Given the description of an element on the screen output the (x, y) to click on. 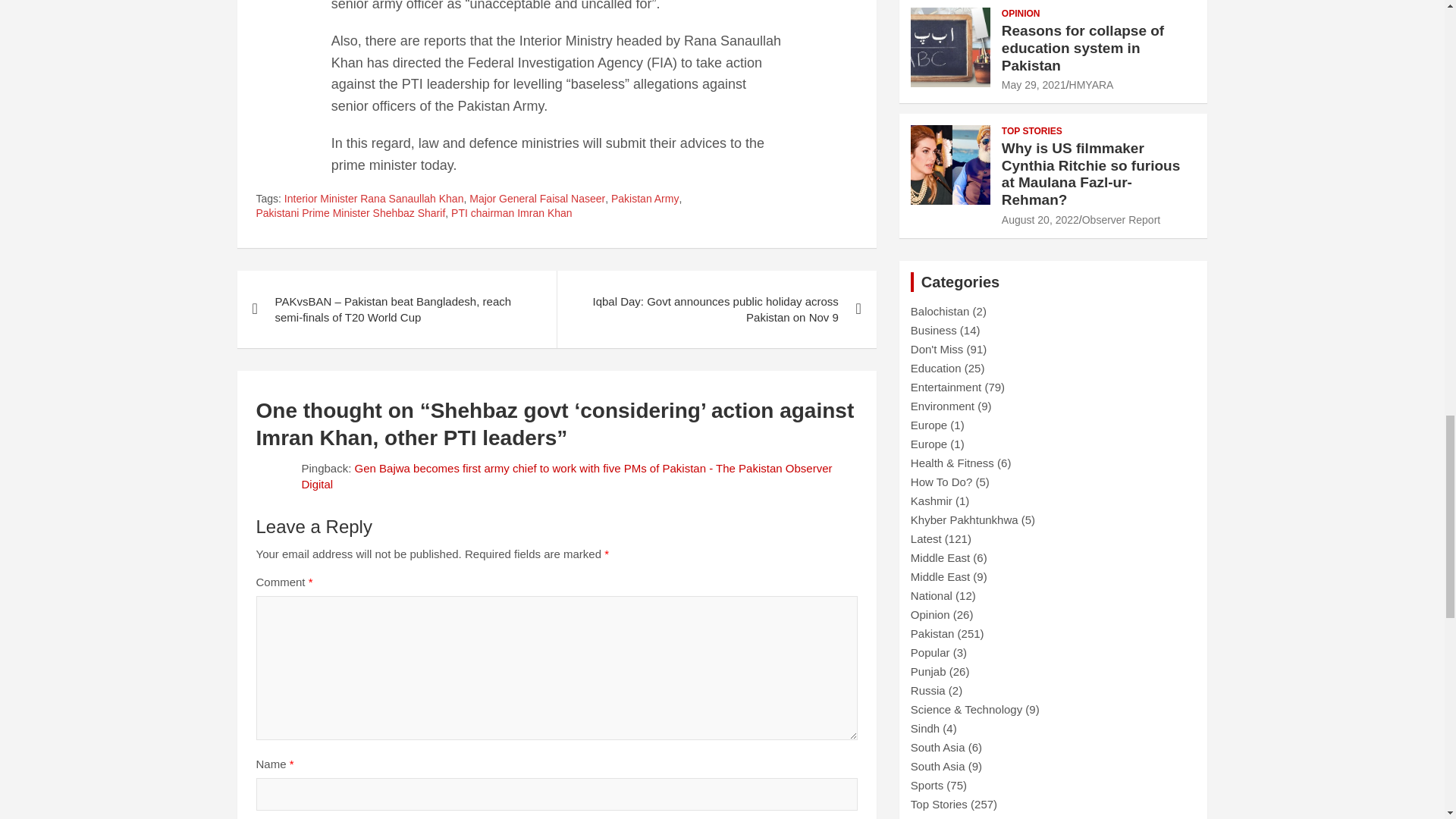
Reasons for collapse of education system in Pakistan (1033, 84)
